Given the description of an element on the screen output the (x, y) to click on. 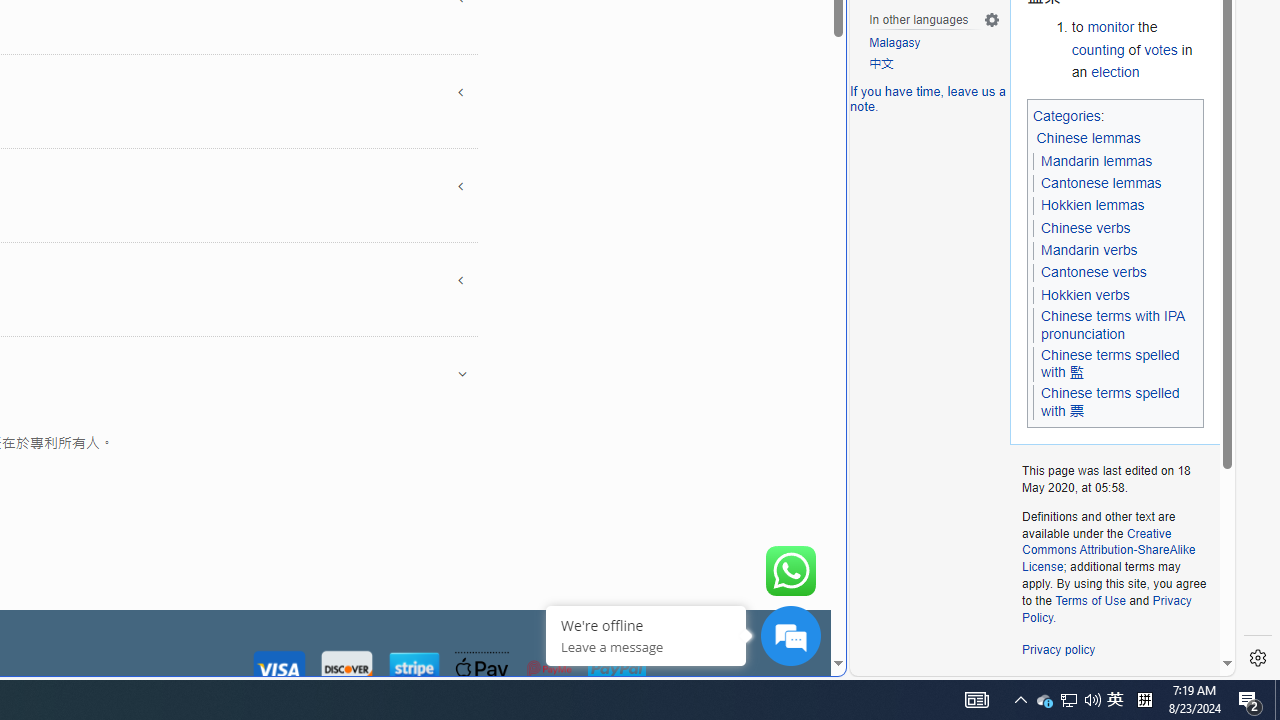
Actions for this site (1129, 306)
Categories (1066, 115)
Hokkien lemmas (1092, 206)
to monitor the counting of votes in an election (1137, 49)
Privacy policy (1058, 650)
Language settings (992, 19)
Cantonese lemmas (1100, 183)
election (1115, 71)
Malagasy (934, 43)
Chinese lemmas (1087, 138)
If you have time, leave us a note. (927, 97)
Privacy policy (1058, 650)
